Given the description of an element on the screen output the (x, y) to click on. 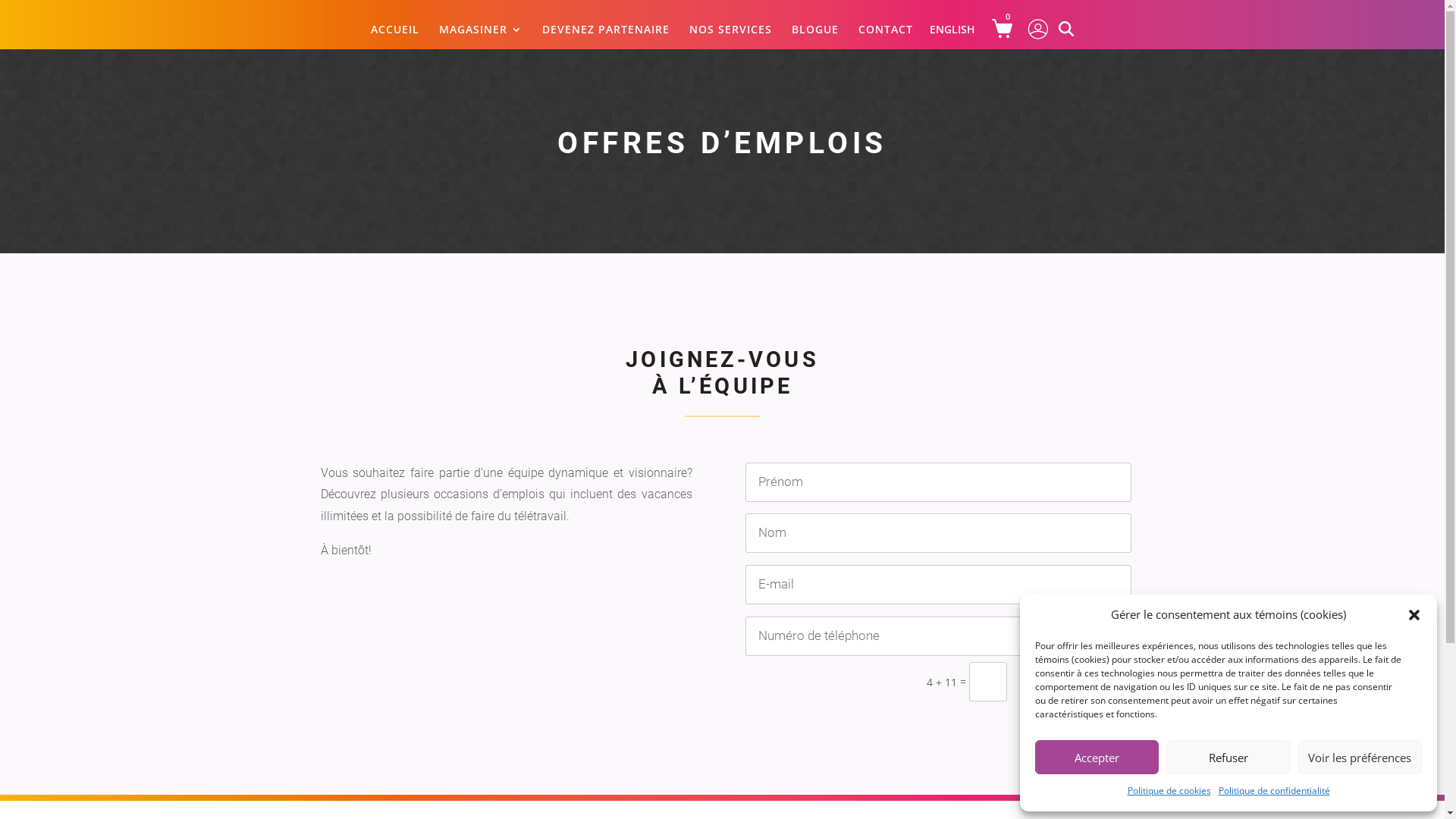
Politique de cookies Element type: text (1168, 790)
Accepter Element type: text (1096, 757)
NOS SERVICES Element type: text (730, 36)
ENGLISH Element type: text (952, 29)
0 Element type: text (1007, 27)
ACCUEIL Element type: text (394, 36)
BLOGUE Element type: text (814, 36)
ENVOYER ! Element type: text (1075, 681)
MAGASINER Element type: text (480, 36)
DEVENEZ PARTENAIRE Element type: text (605, 36)
CONTACT Element type: text (885, 36)
Refuser Element type: text (1227, 757)
